Given the description of an element on the screen output the (x, y) to click on. 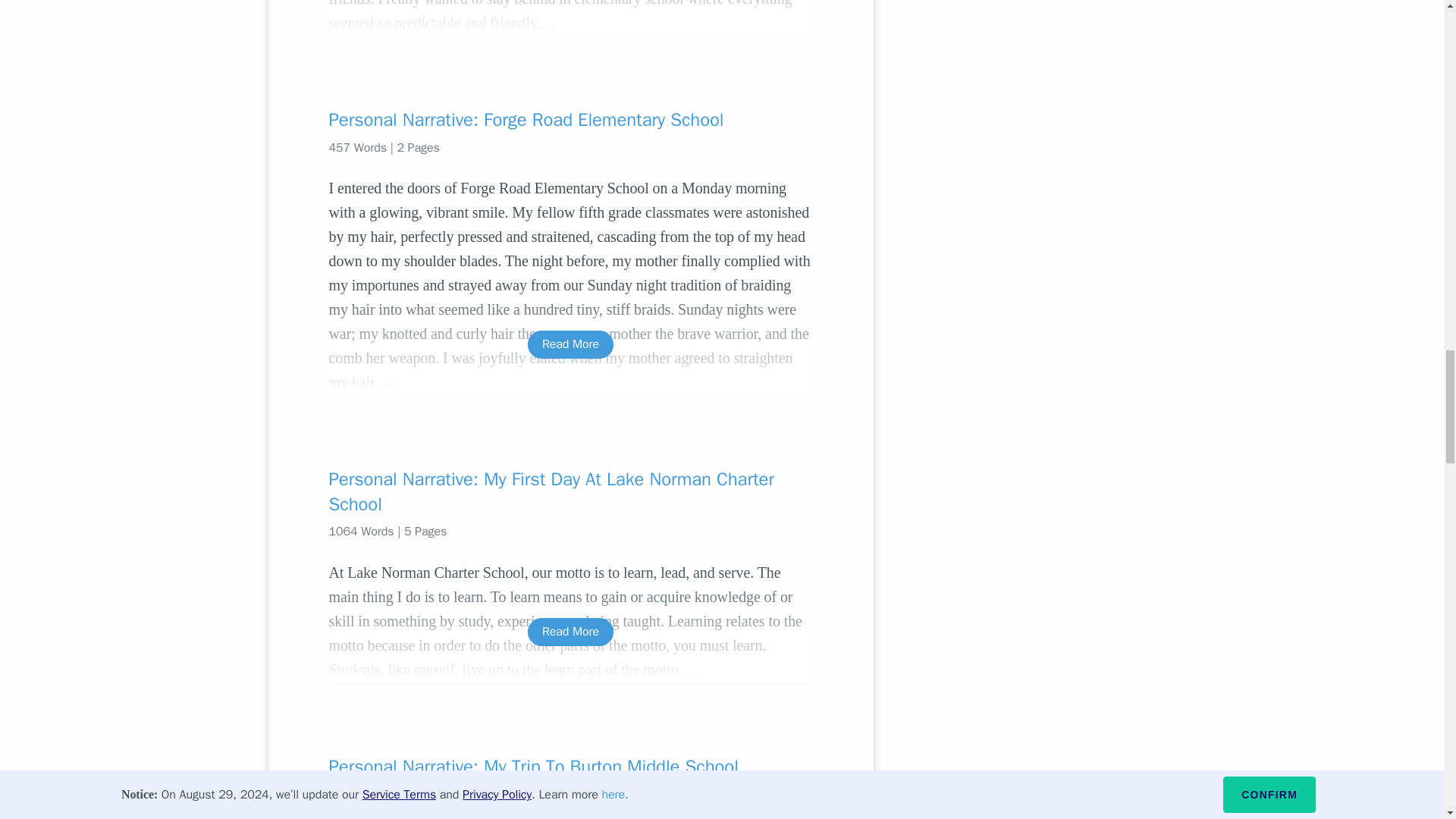
Read More (569, 632)
Read More (569, 344)
Personal Narrative: My Trip To Burton Middle School (570, 766)
Personal Narrative: Forge Road Elementary School (570, 119)
